Given the description of an element on the screen output the (x, y) to click on. 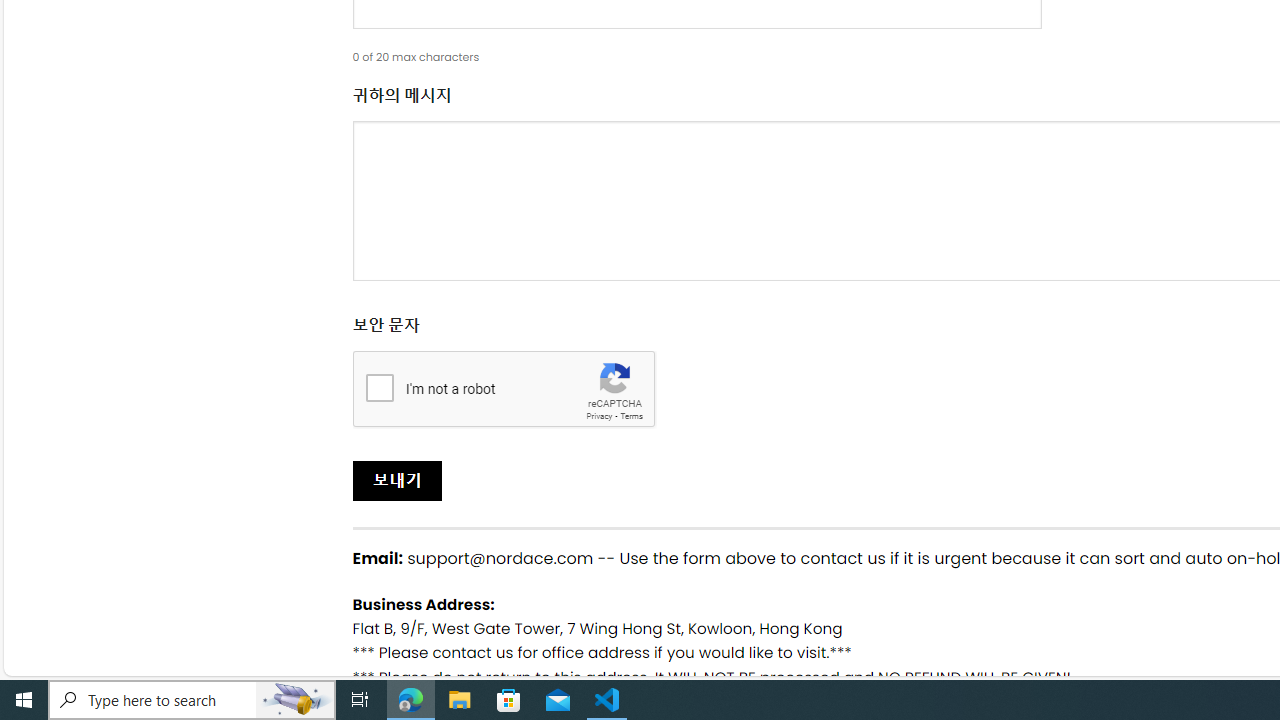
I'm not a robot (379, 386)
Terms (631, 416)
